Given the description of an element on the screen output the (x, y) to click on. 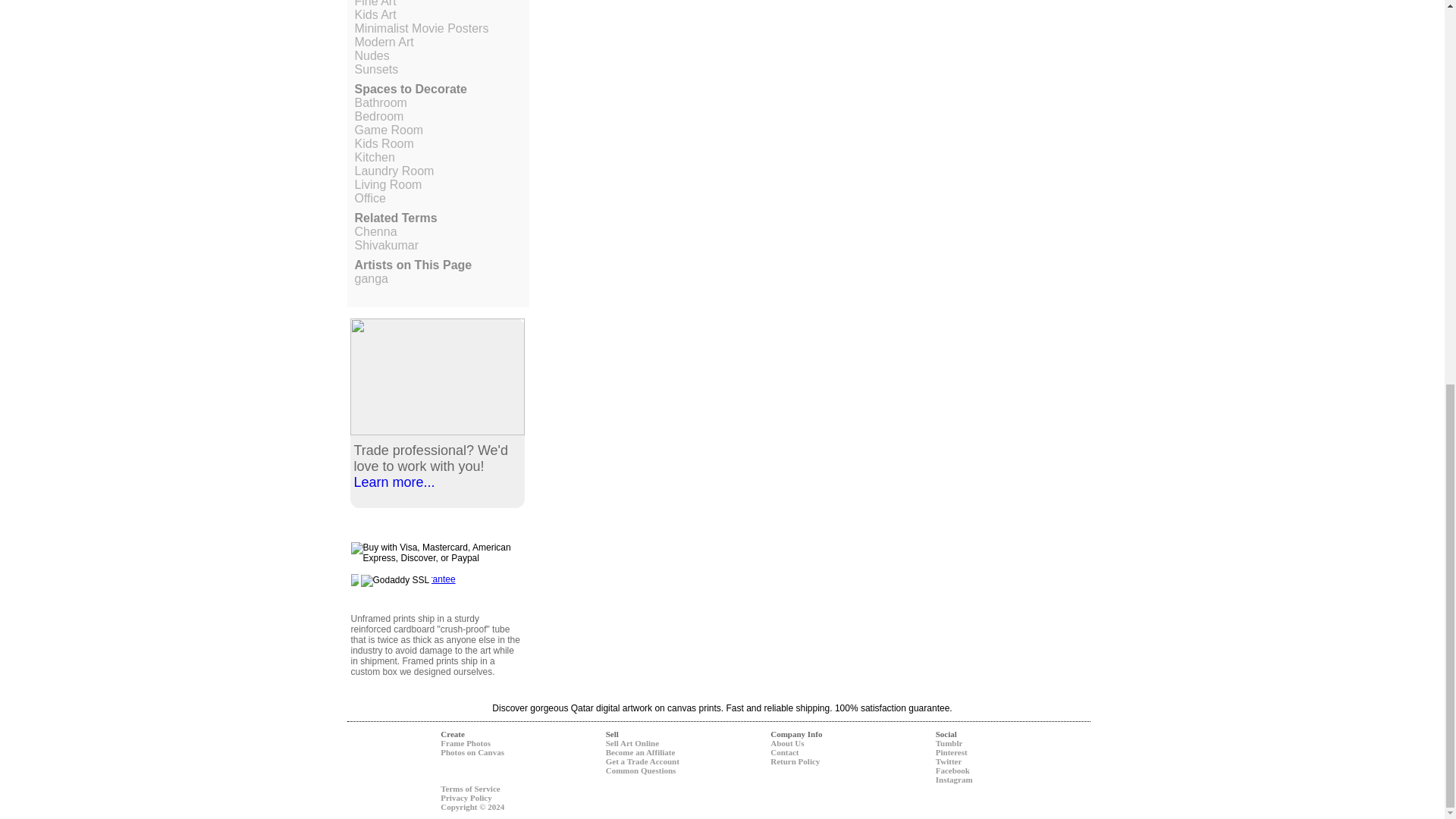
ganga (371, 278)
